Given the description of an element on the screen output the (x, y) to click on. 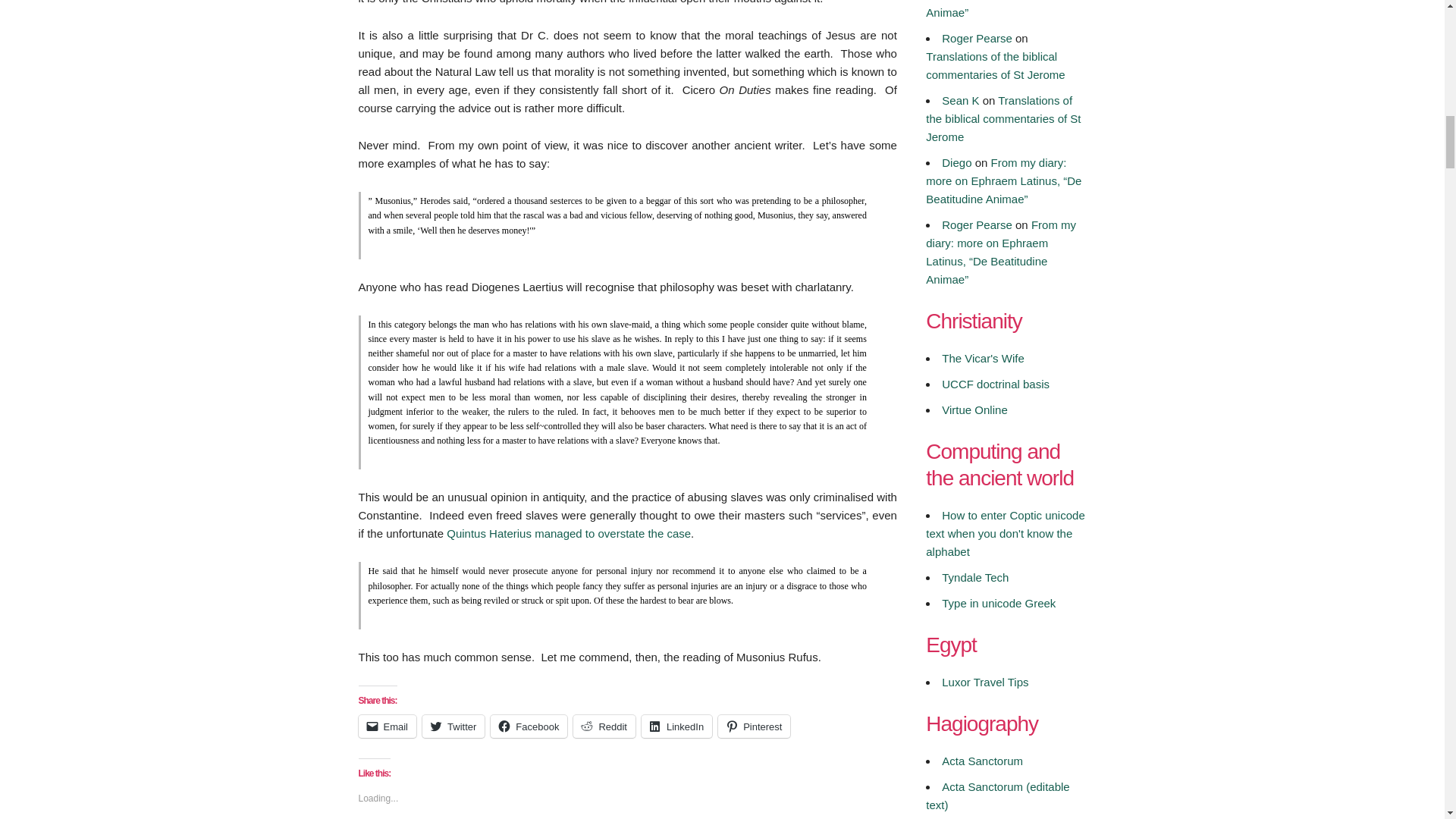
Click to share on Pinterest (753, 725)
Quintus Haterius managed to overstate the case (568, 533)
Click to email a link to a friend (387, 725)
Click to share on LinkedIn (676, 725)
Twitter (453, 725)
Reddit (603, 725)
Facebook (528, 725)
Click to share on Twitter (453, 725)
LinkedIn (676, 725)
Pinterest (753, 725)
Click to share on Facebook (528, 725)
Click to share on Reddit (603, 725)
Email (387, 725)
